Given the description of an element on the screen output the (x, y) to click on. 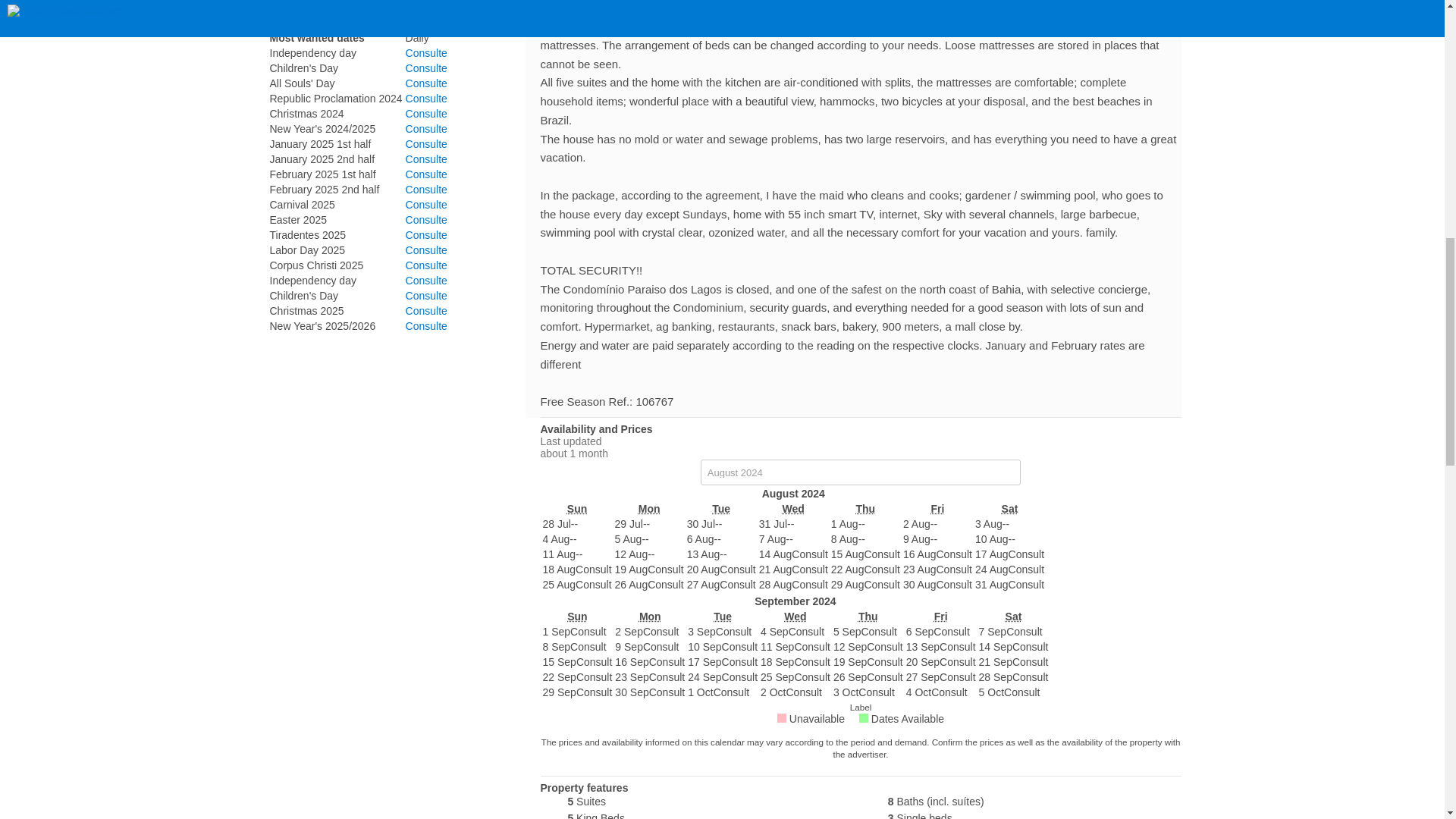
Consulte (426, 82)
Consulte (426, 68)
Consulte (426, 98)
Consulte (426, 52)
